Given the description of an element on the screen output the (x, y) to click on. 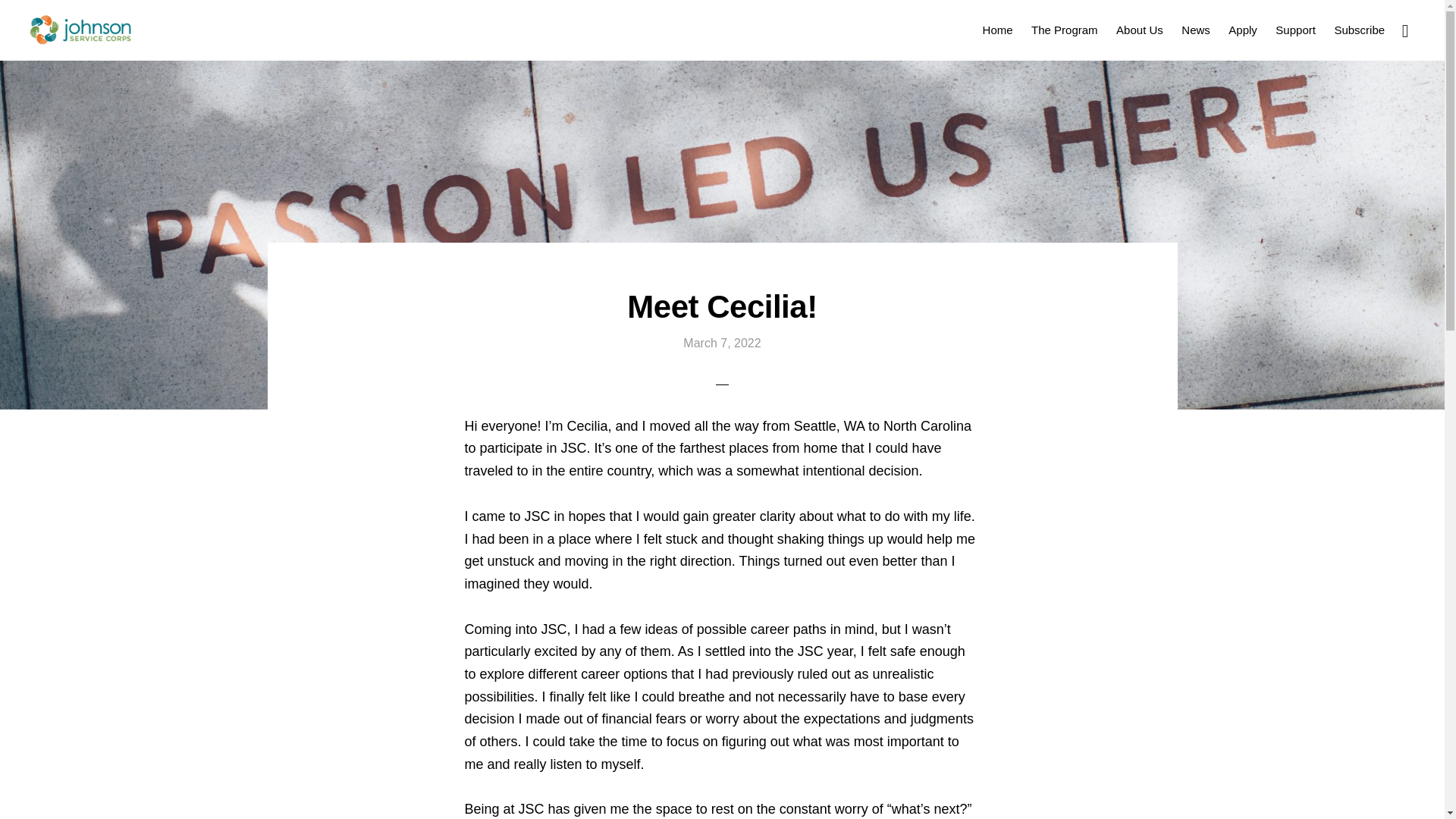
JOHNSON SERVICE CORPS (80, 30)
Apply (1243, 29)
Support (1295, 29)
News (1195, 29)
The Program (1064, 29)
About Us (1139, 29)
Subscribe (1358, 29)
Subscribe to Our Newsletter (1358, 29)
Show Search (1404, 29)
Beautiful, Affordable Websites for Nonprofits (943, 781)
Home (997, 29)
